Given the description of an element on the screen output the (x, y) to click on. 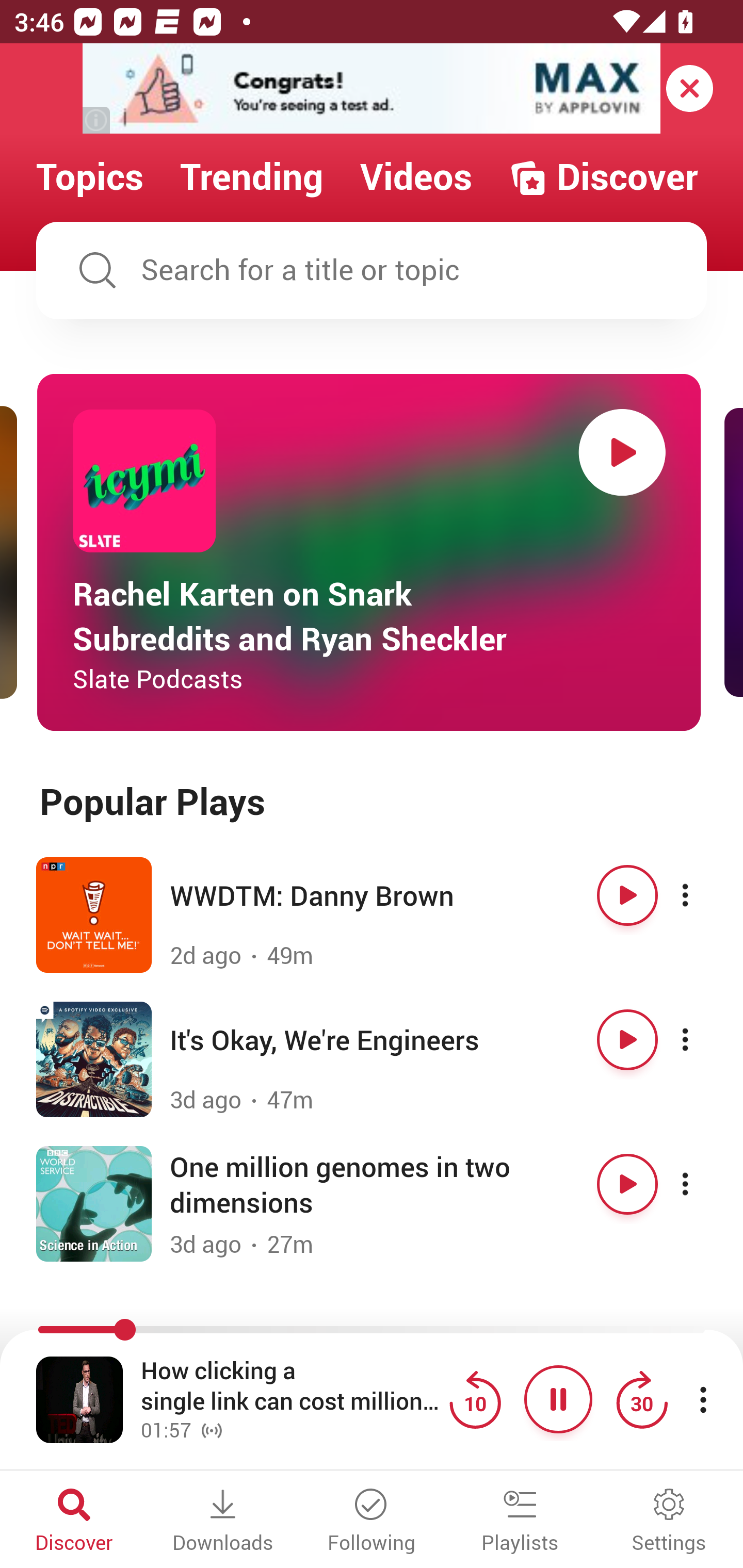
app-monetization (371, 88)
(i) (96, 119)
Topics (90, 177)
Trending (251, 177)
Videos (415, 177)
Discover (603, 177)
Search for a title or topic (371, 270)
Play button (621, 452)
Play button (627, 895)
More options (703, 895)
Play button (627, 1039)
More options (703, 1039)
Play button (627, 1184)
More options (703, 1184)
Recommended for You (371, 1331)
Open fullscreen player (79, 1399)
More player controls (703, 1399)
Pause button (558, 1398)
Jump back (475, 1399)
Jump forward (641, 1399)
Discover (74, 1521)
Downloads (222, 1521)
Following (371, 1521)
Playlists (519, 1521)
Settings (668, 1521)
